Given the description of an element on the screen output the (x, y) to click on. 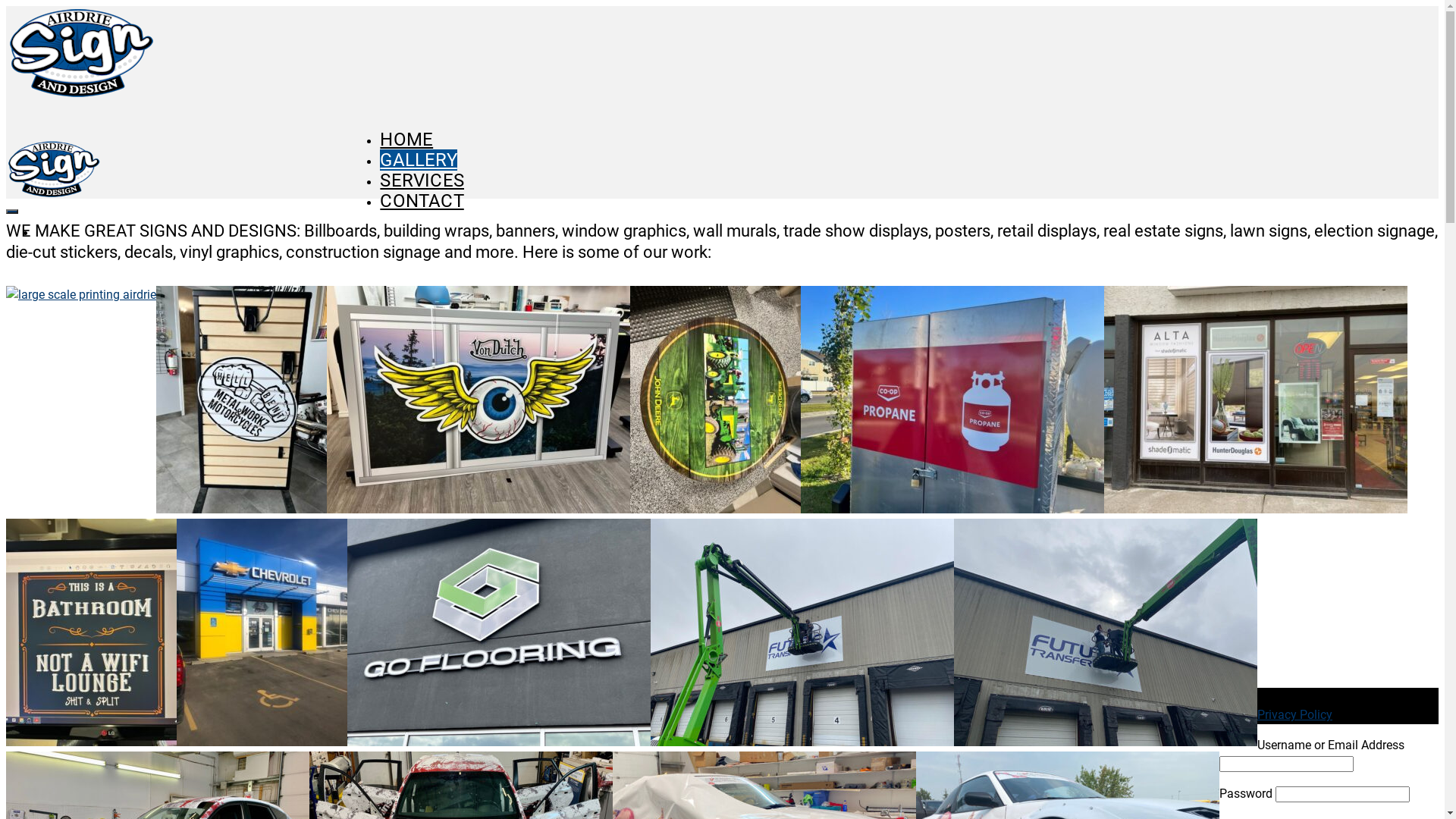
HOME Element type: text (406, 139)
GALLERY Element type: text (417, 159)
CONTACT Element type: text (421, 200)
Privacy Policy Element type: text (1294, 714)
SERVICES Element type: text (421, 180)
